Given the description of an element on the screen output the (x, y) to click on. 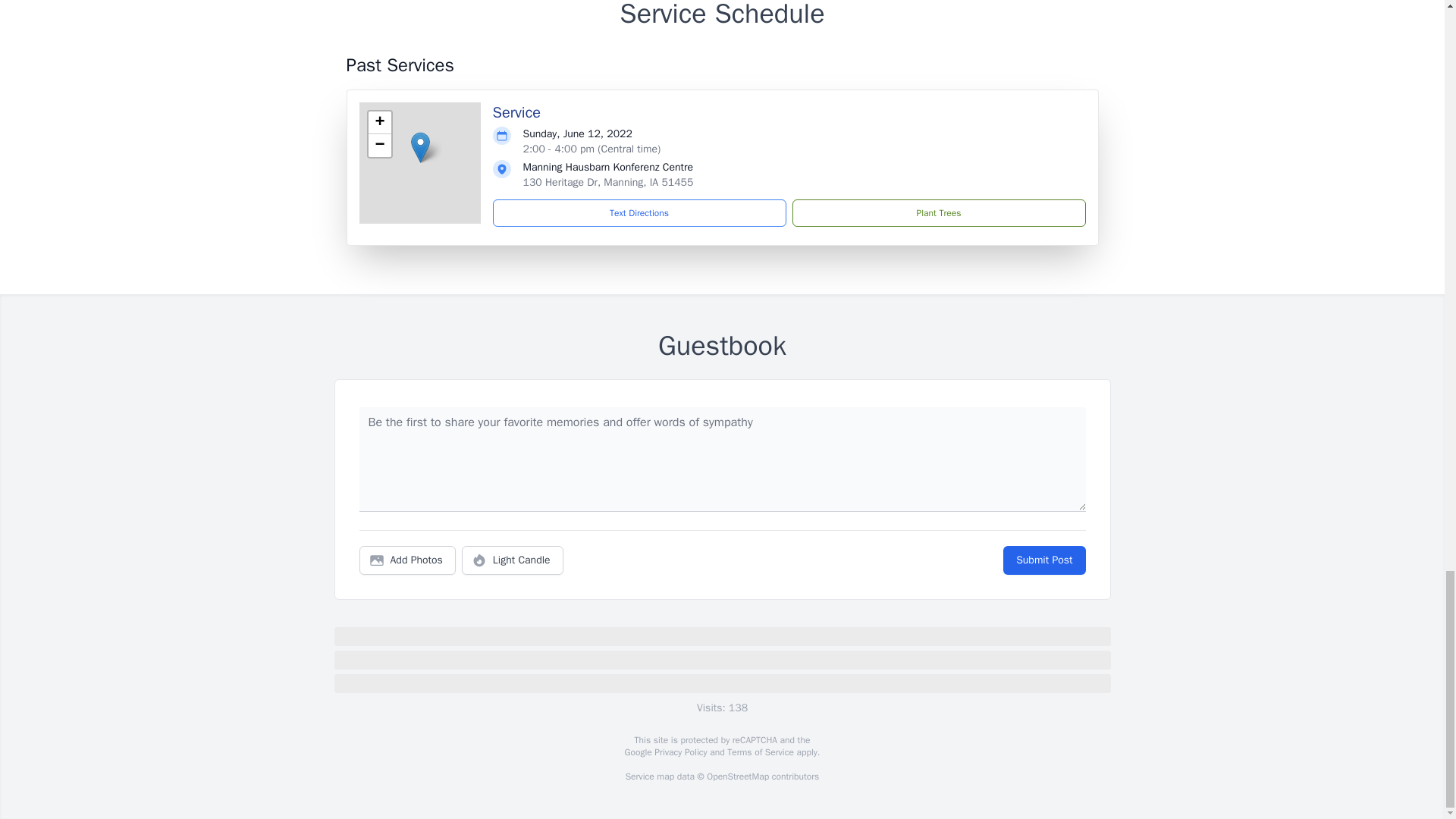
Text Directions (639, 212)
Plant Trees (938, 212)
Zoom out (379, 145)
Light Candle (512, 560)
Privacy Policy (679, 752)
130 Heritage Dr, Manning, IA 51455 (608, 182)
Zoom in (379, 122)
Submit Post (1043, 560)
Terms of Service (759, 752)
Add Photos (407, 560)
OpenStreetMap (737, 776)
